Given the description of an element on the screen output the (x, y) to click on. 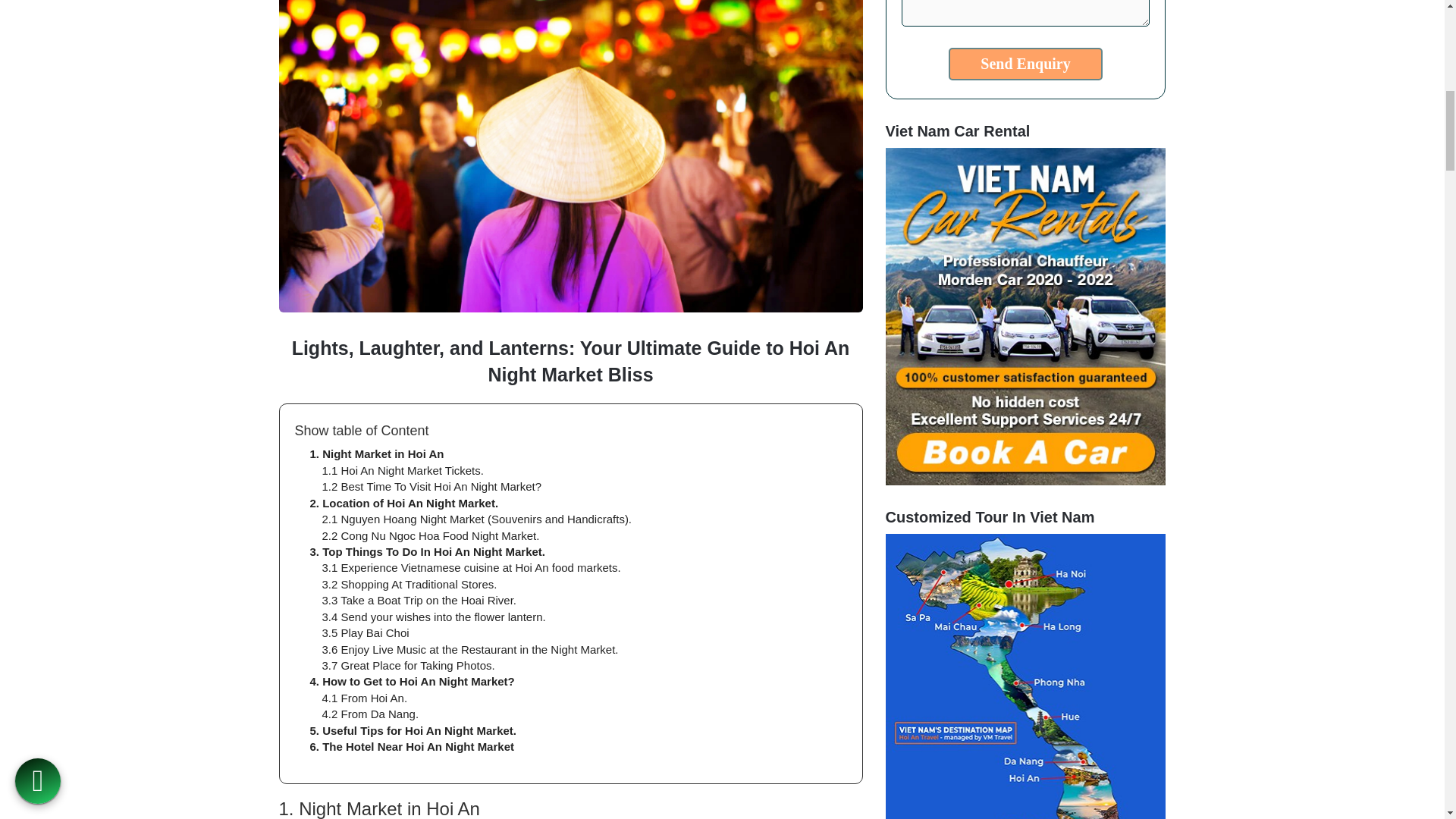
5. Useful Tips for Hoi An Night Market. (412, 730)
3.6 Enjoy Live Music at the Restaurant in the Night Market. (469, 649)
4. How to Get to Hoi An Night Market? (410, 680)
4.1 From Hoi An. (364, 697)
1.2 Best Time To Visit Hoi An Night Market? (431, 486)
1. Night Market in Hoi An (376, 453)
2. Location of Hoi An Night Market. (402, 502)
3. Top Things To Do In Hoi An Night Market. (426, 551)
3.7 Great Place for Taking Photos. (408, 665)
3.4 Send your wishes into the flower lantern. (432, 616)
